Given the description of an element on the screen output the (x, y) to click on. 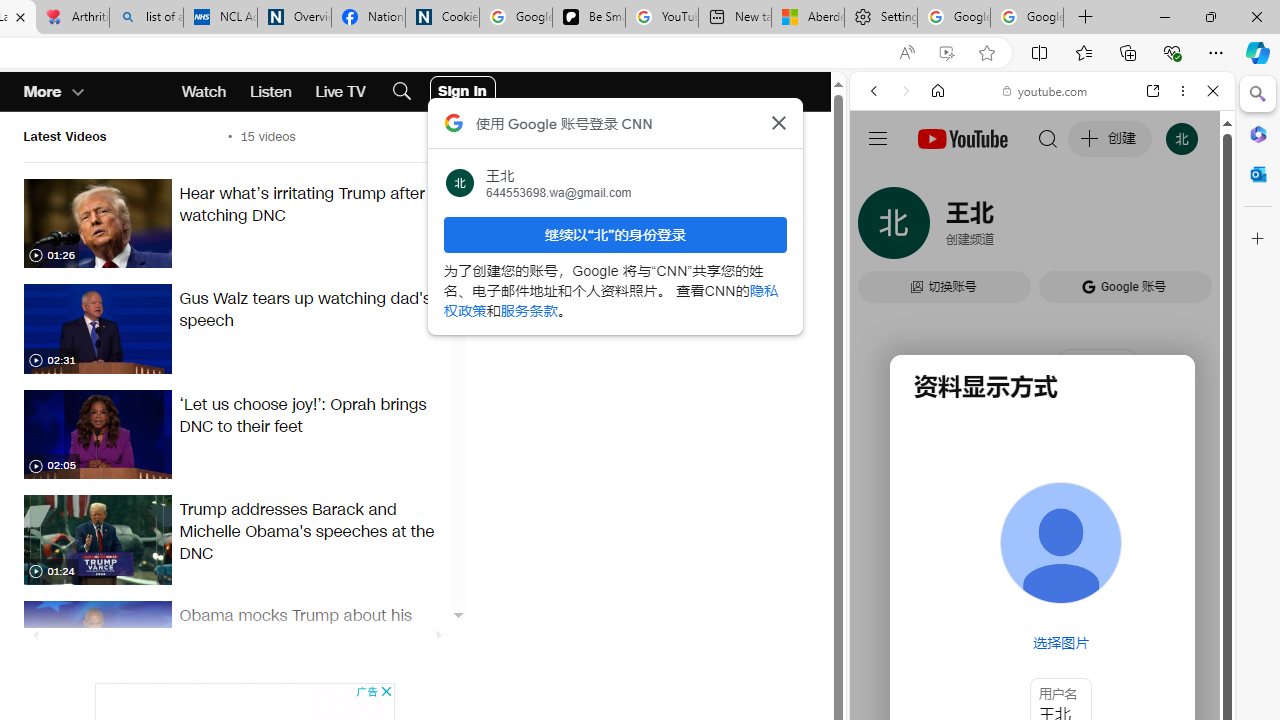
Enhance video (946, 53)
Aberdeen, Hong Kong SAR hourly forecast | Microsoft Weather (807, 17)
Google (1042, 494)
Search Icon (401, 92)
Cookies (441, 17)
youtube.com (1046, 90)
Music (1042, 543)
